Given the description of an element on the screen output the (x, y) to click on. 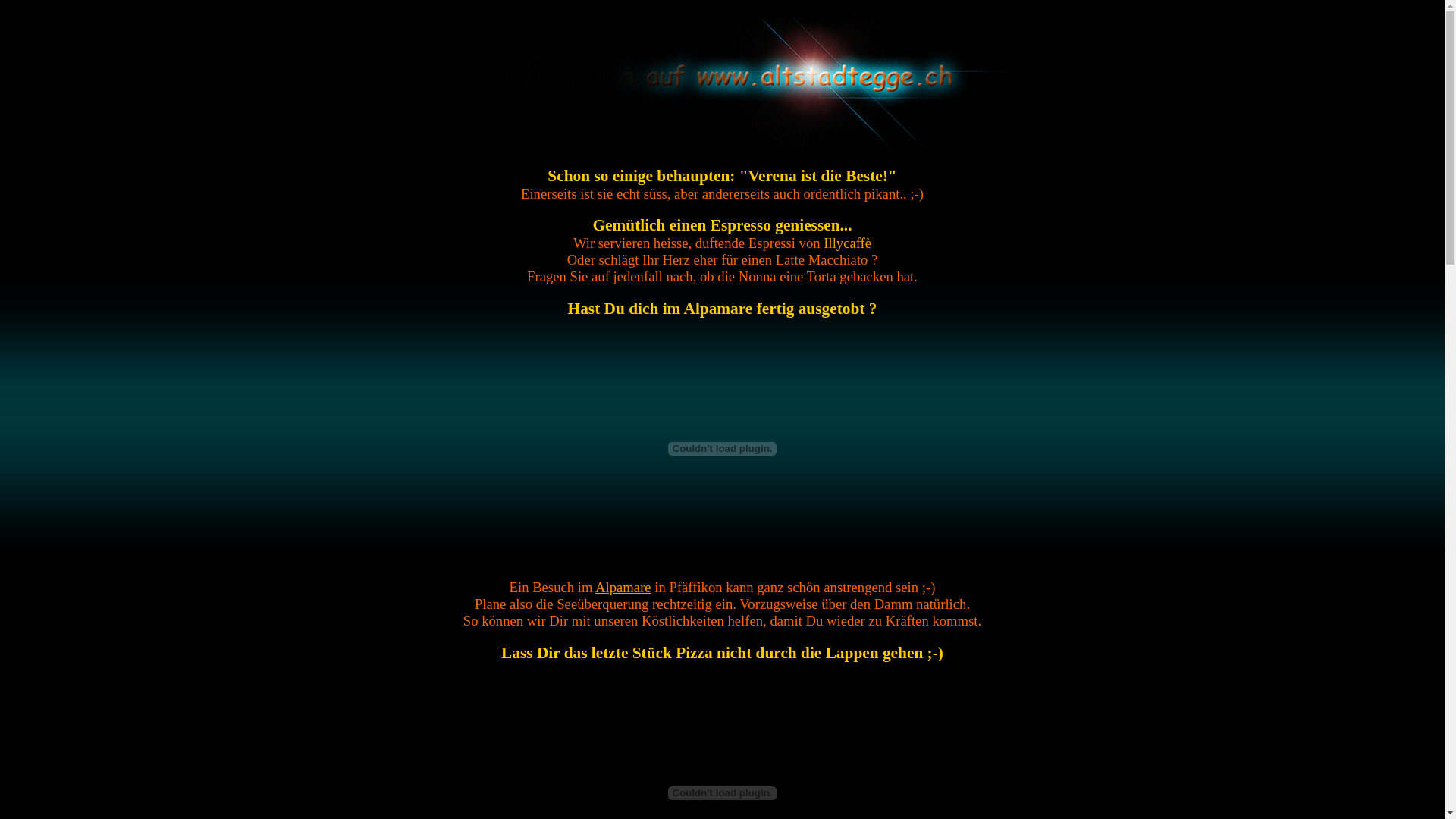
Alpamare Element type: text (623, 587)
